Given the description of an element on the screen output the (x, y) to click on. 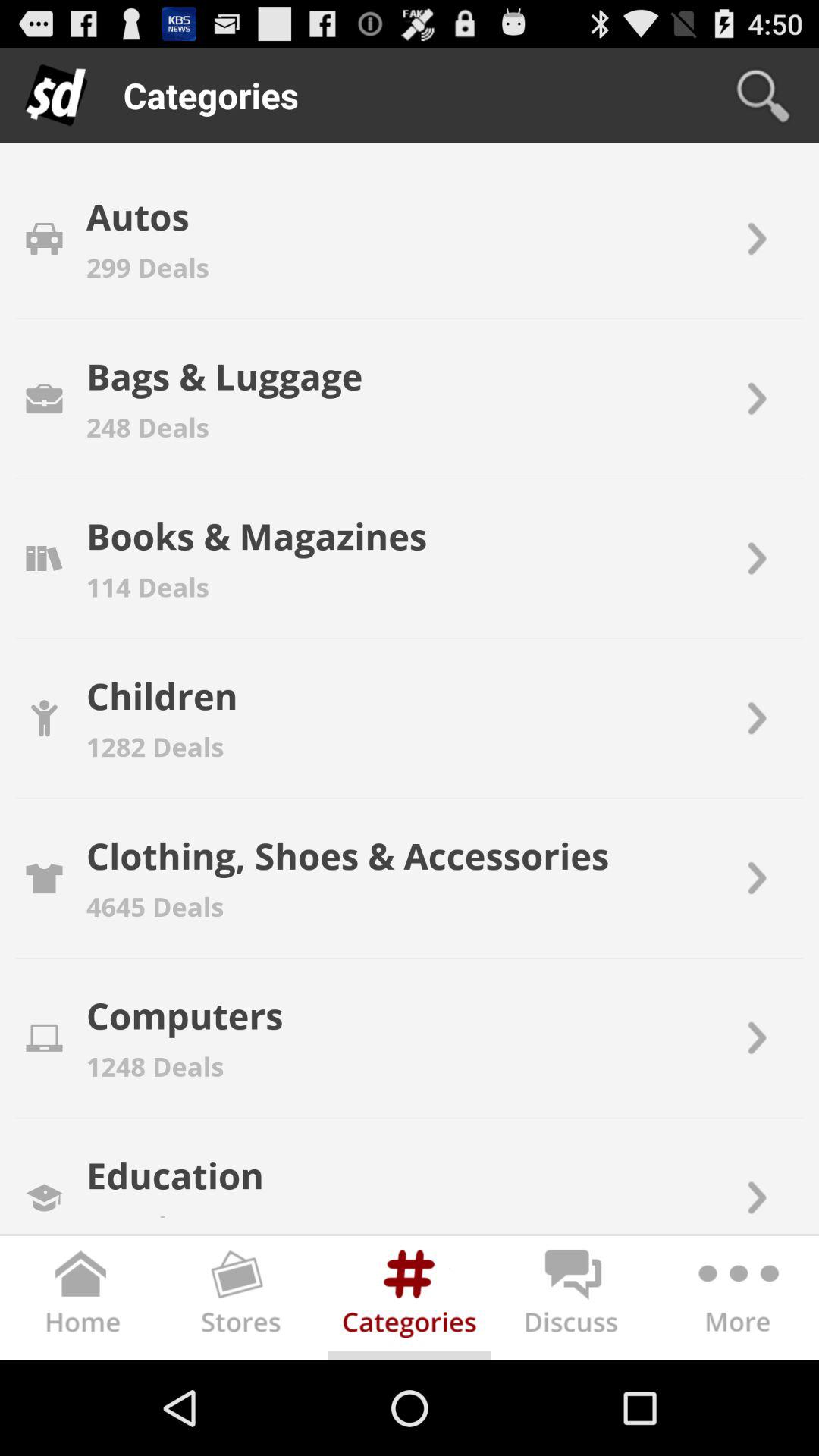
scroll to 114 deals (147, 586)
